Given the description of an element on the screen output the (x, y) to click on. 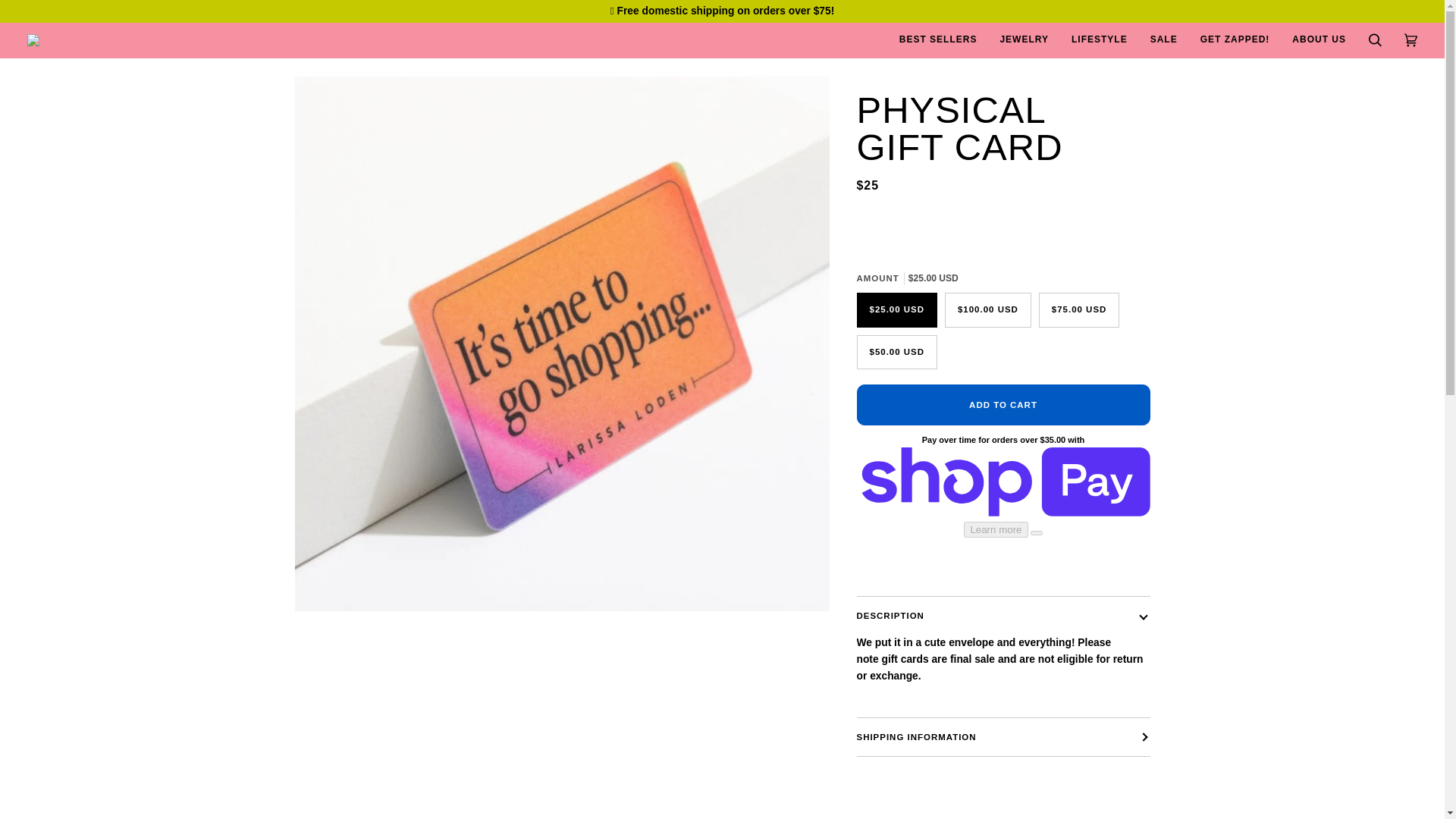
SALE (1163, 39)
JEWELRY (1023, 39)
LIFESTYLE (1098, 39)
ABOUT US (1318, 39)
SEARCH (1374, 39)
BEST SELLERS (938, 39)
GET ZAPPED! (1235, 39)
